Given the description of an element on the screen output the (x, y) to click on. 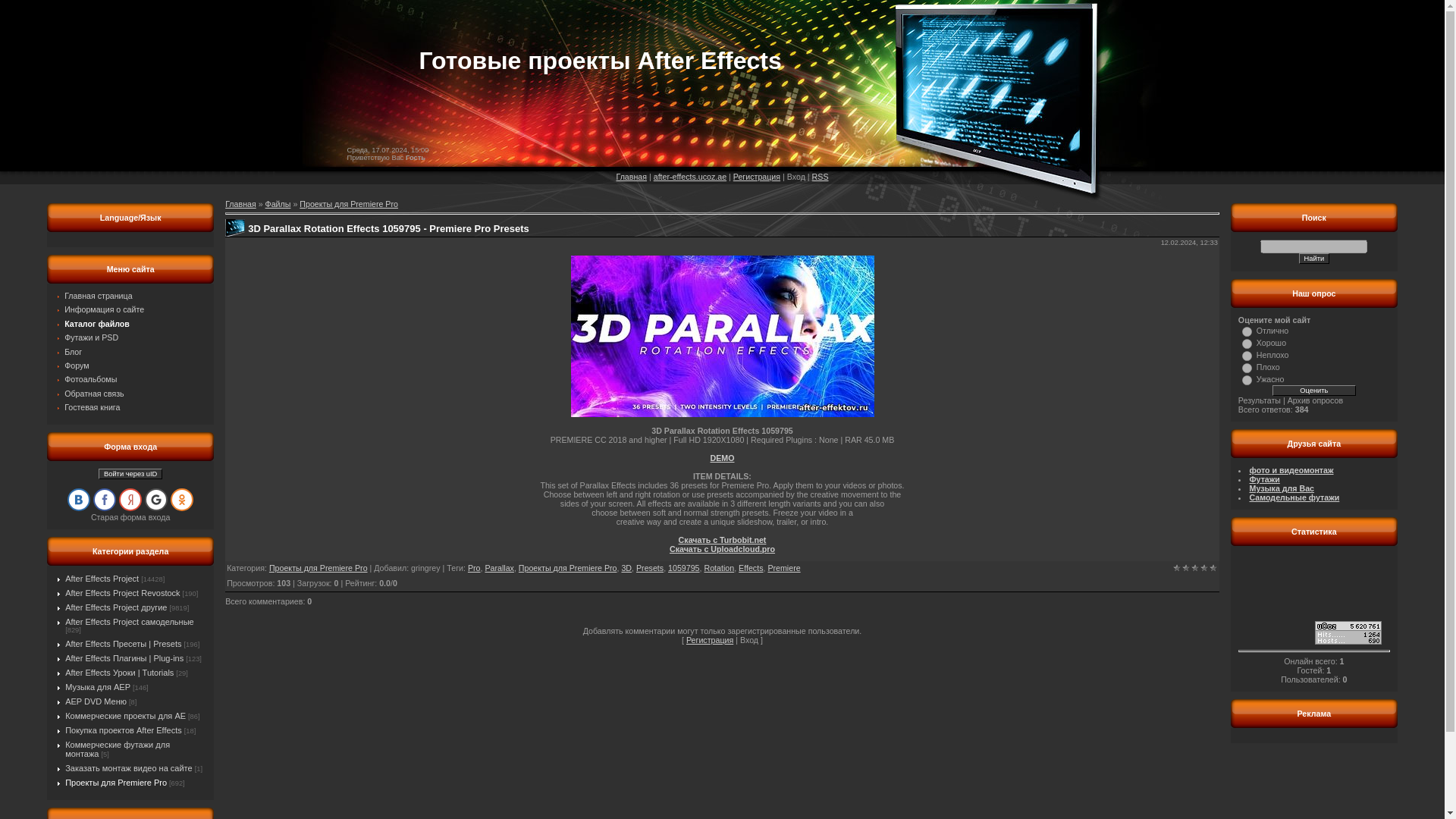
1059795 (684, 567)
3D (626, 567)
5 (1212, 567)
Pro (473, 567)
DEMO (722, 457)
RSS (820, 175)
Presets (649, 567)
After Effects Project Revostock (122, 592)
Rotation (718, 567)
4 (1203, 567)
1 (1176, 567)
uCoz Counter (1347, 641)
After Effects Project (101, 578)
after-effects.ucoz.ae (689, 175)
2 (1185, 567)
